Given the description of an element on the screen output the (x, y) to click on. 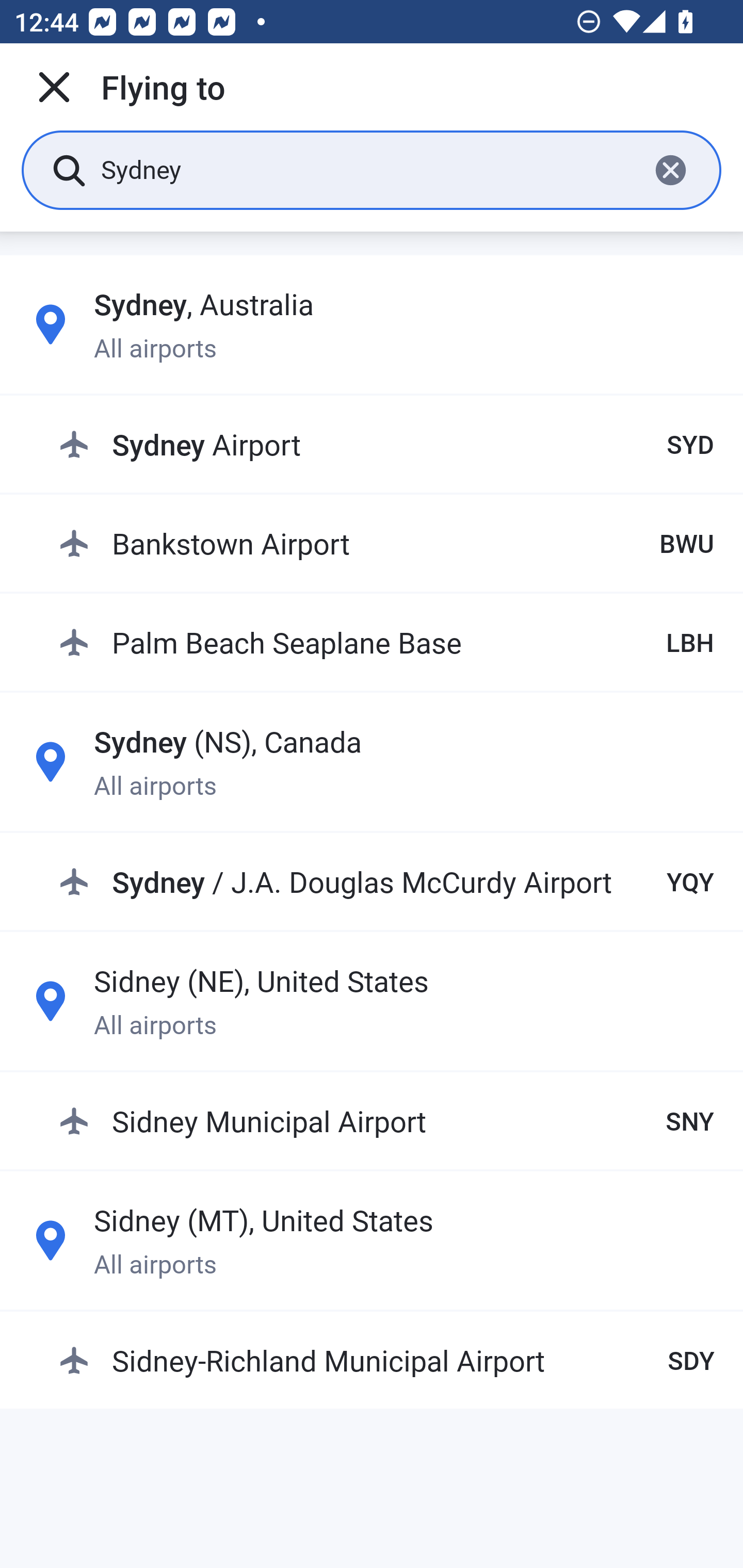
Sydney (367, 169)
Sydney, Australia All airports (371, 324)
Sydney Airport SYD (385, 444)
Bankstown Airport BWU (385, 543)
Palm Beach Seaplane Base LBH (385, 641)
Sydney (NS), Canada All airports (371, 761)
Sydney / J.A. Douglas McCurdy Airport YQY (385, 881)
Sidney (NE), United States All airports (371, 1001)
Sidney Municipal Airport SNY (385, 1120)
Sidney (MT), United States All airports (371, 1240)
Sidney-Richland Municipal Airport SDY (385, 1360)
